Given the description of an element on the screen output the (x, y) to click on. 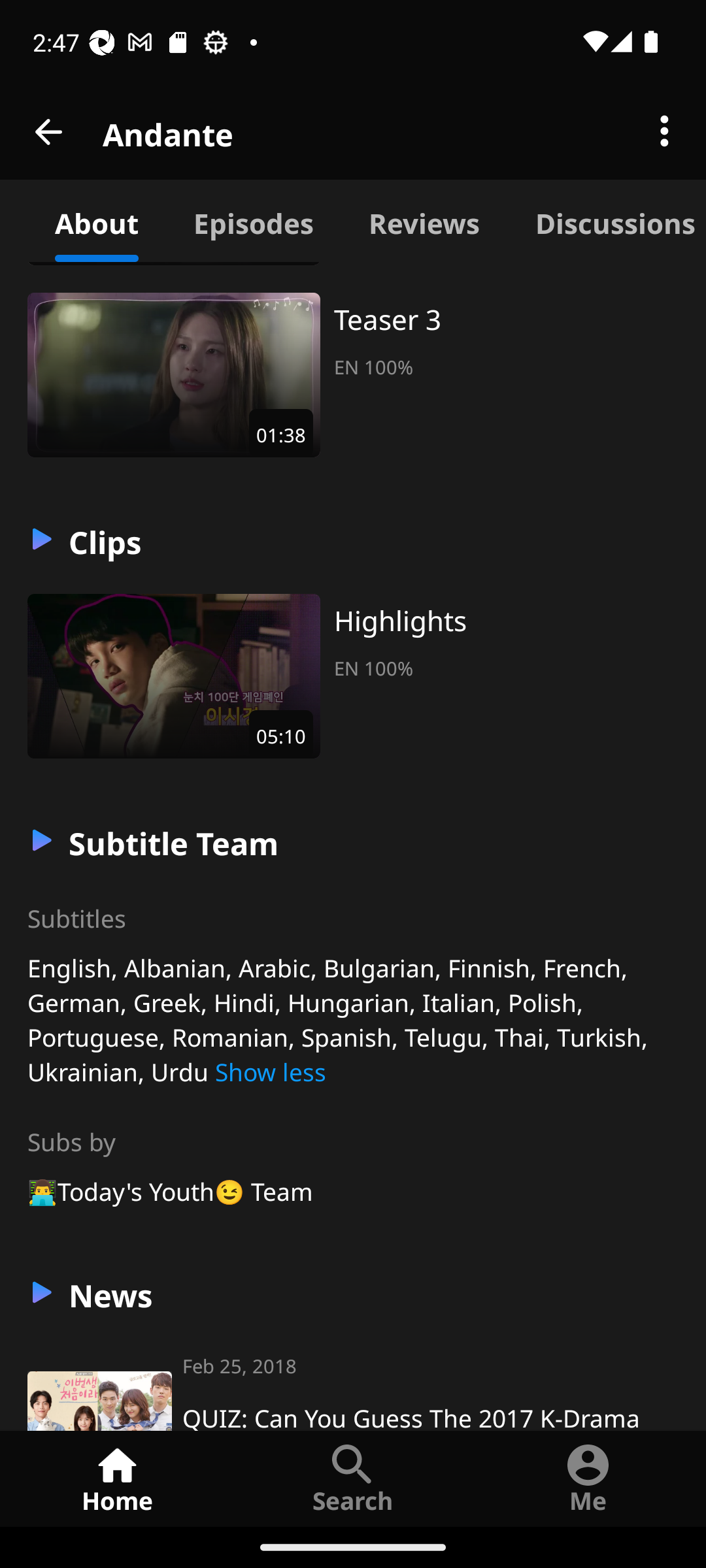
More (664, 131)
Episodes (252, 220)
Reviews (423, 220)
Discussions (606, 220)
Search (352, 1478)
Me (588, 1478)
